Given the description of an element on the screen output the (x, y) to click on. 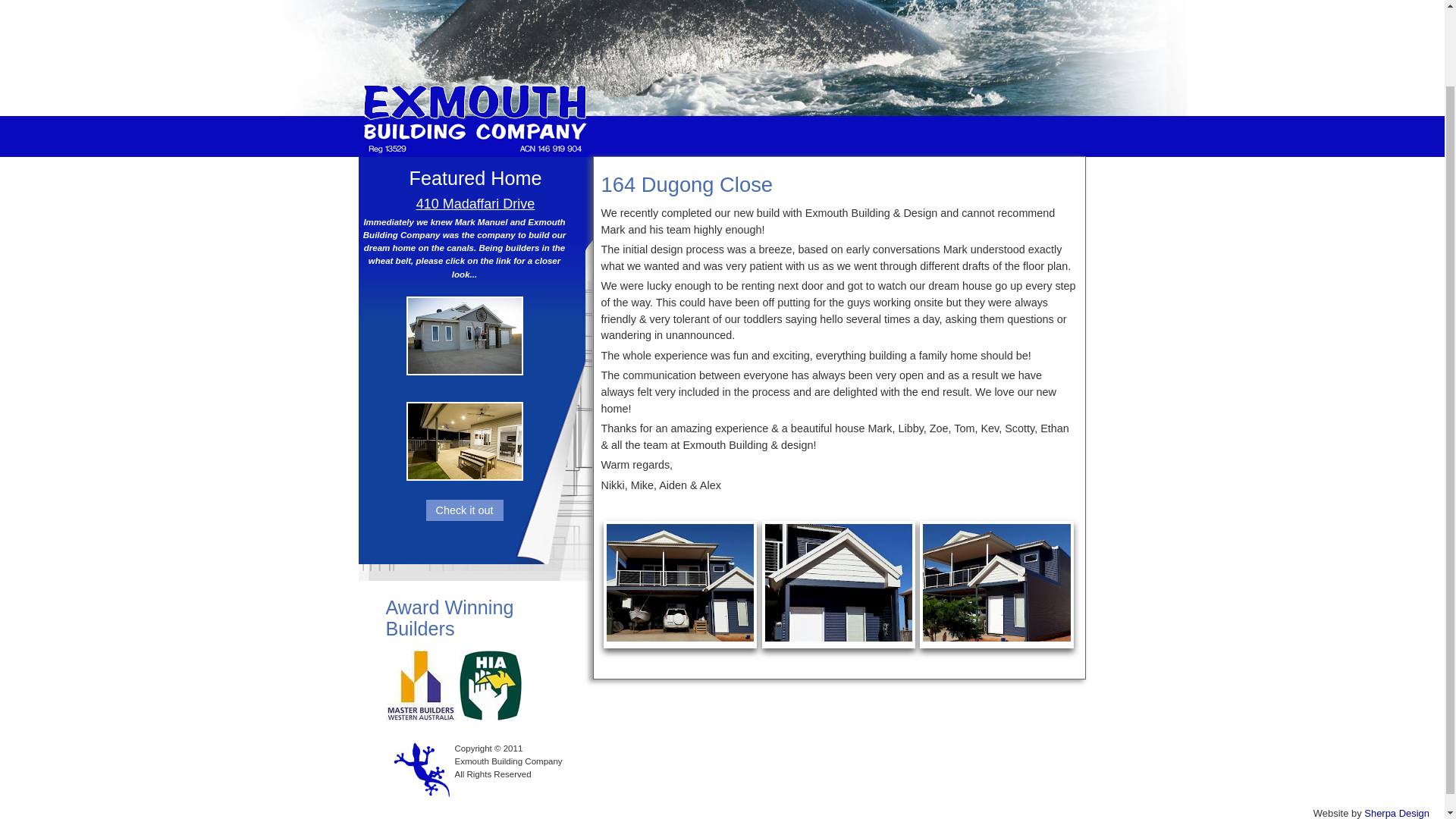
Check it out (464, 509)
